Given the description of an element on the screen output the (x, y) to click on. 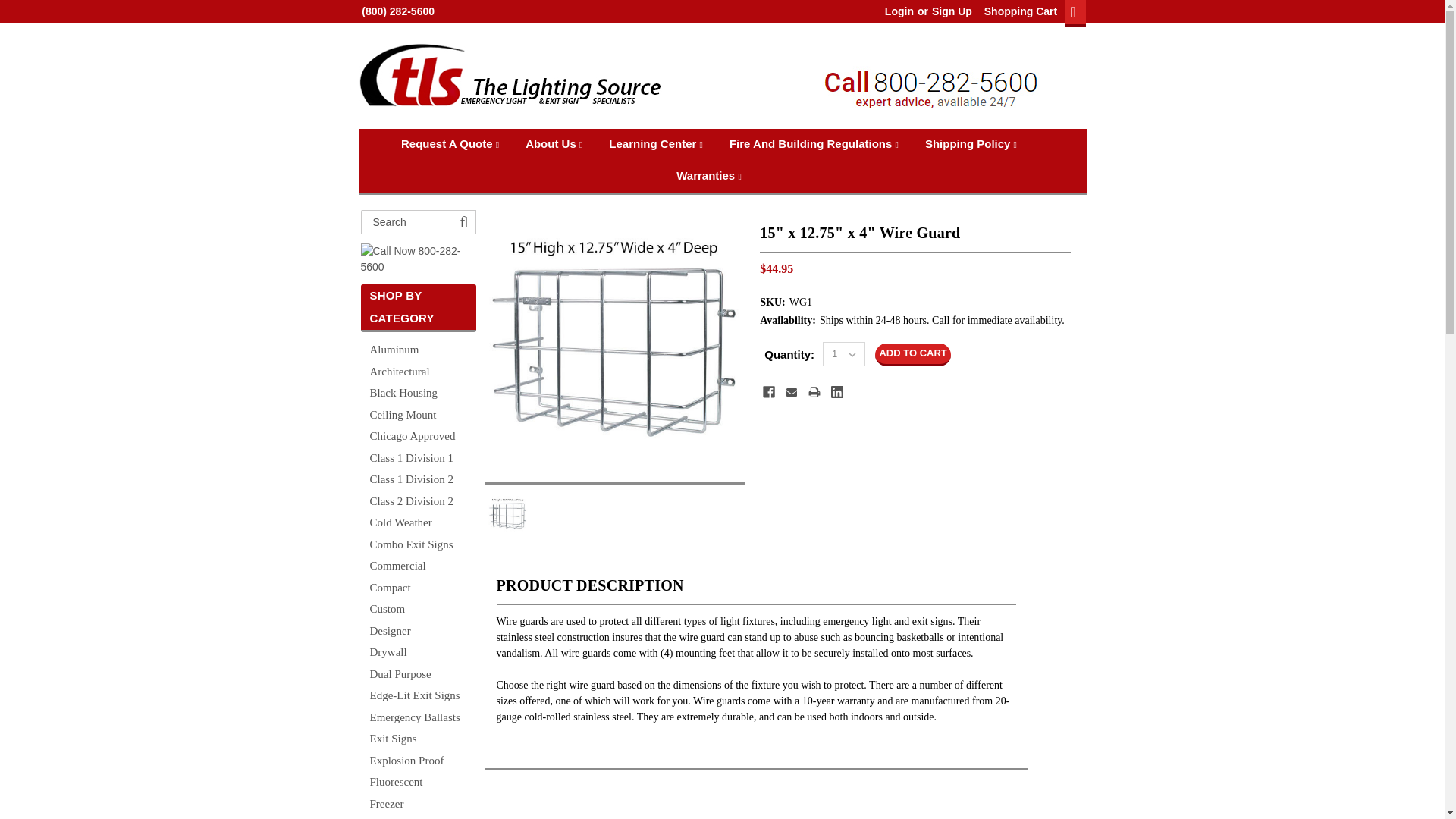
Login (899, 11)
Sign Up (950, 11)
Emergency Lights Co. by TLS (509, 77)
Shopping Cart (1016, 10)
Add to Cart (912, 354)
